Given the description of an element on the screen output the (x, y) to click on. 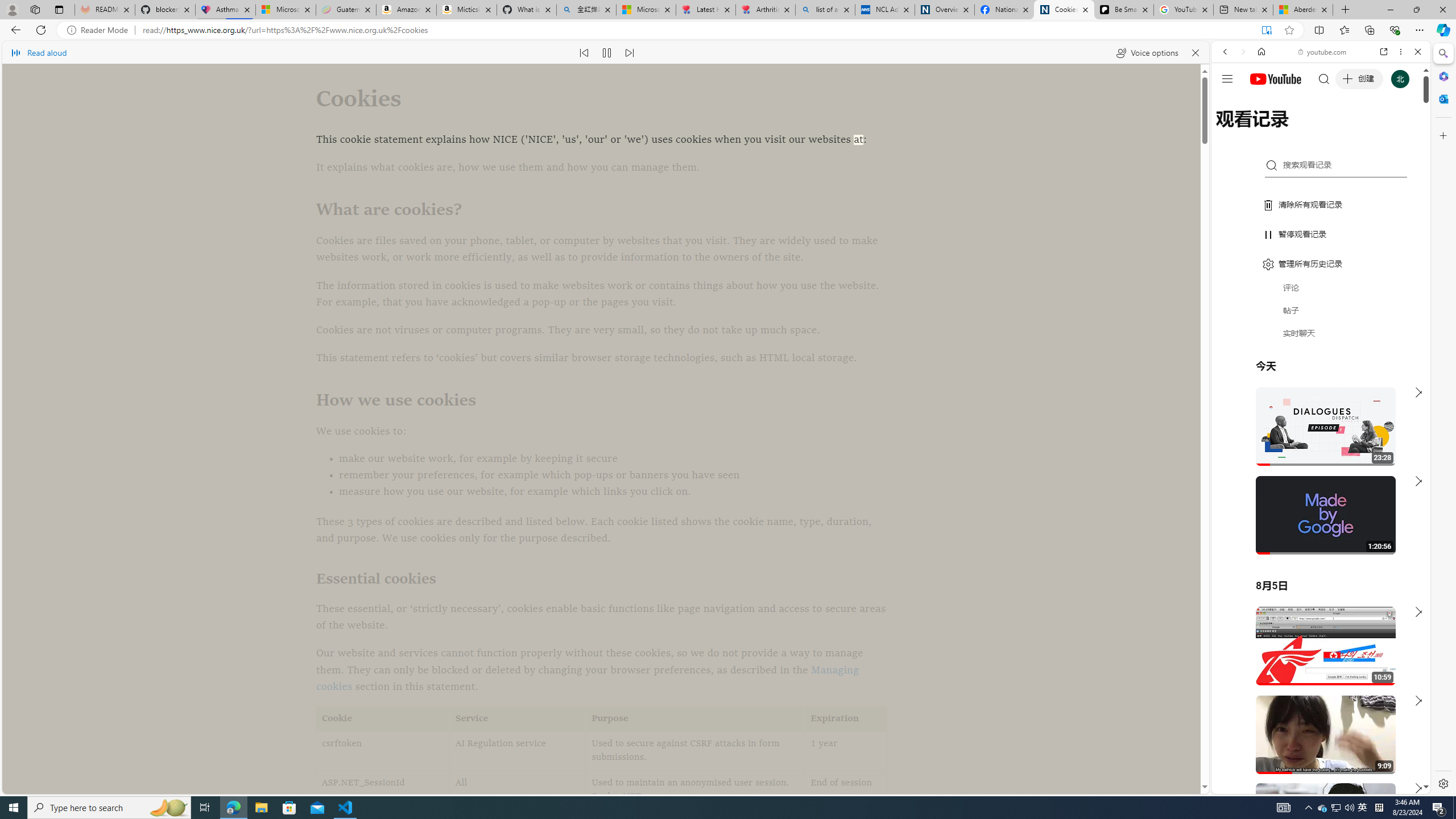
1 year (844, 751)
AI Regulation service (517, 751)
Read previous paragraph (583, 52)
Google (1320, 281)
#you (1320, 253)
NCL Adult Asthma Inhaler Choice Guideline (885, 9)
